Given the description of an element on the screen output the (x, y) to click on. 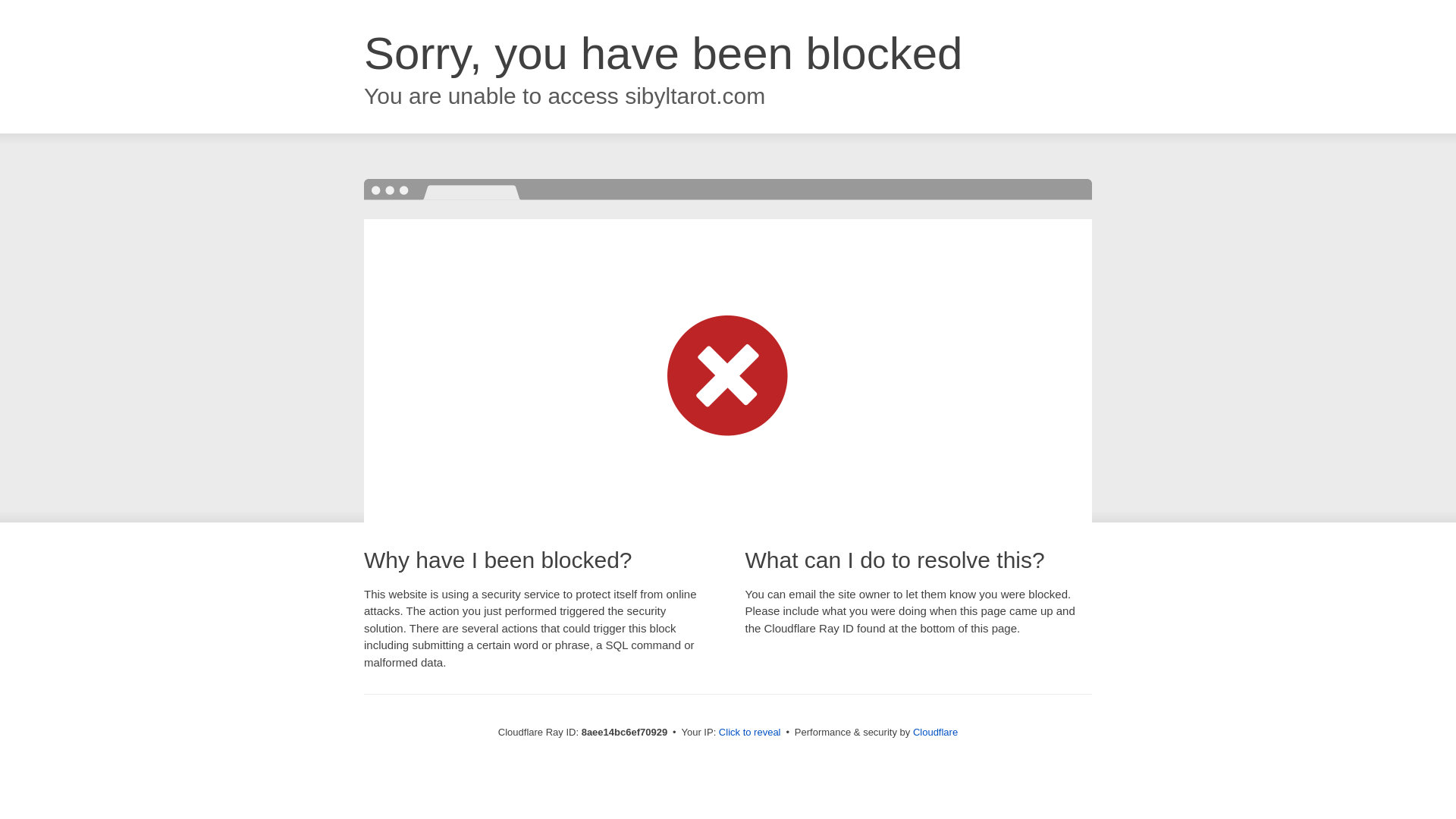
Cloudflare (935, 731)
Click to reveal (749, 732)
